Given the description of an element on the screen output the (x, y) to click on. 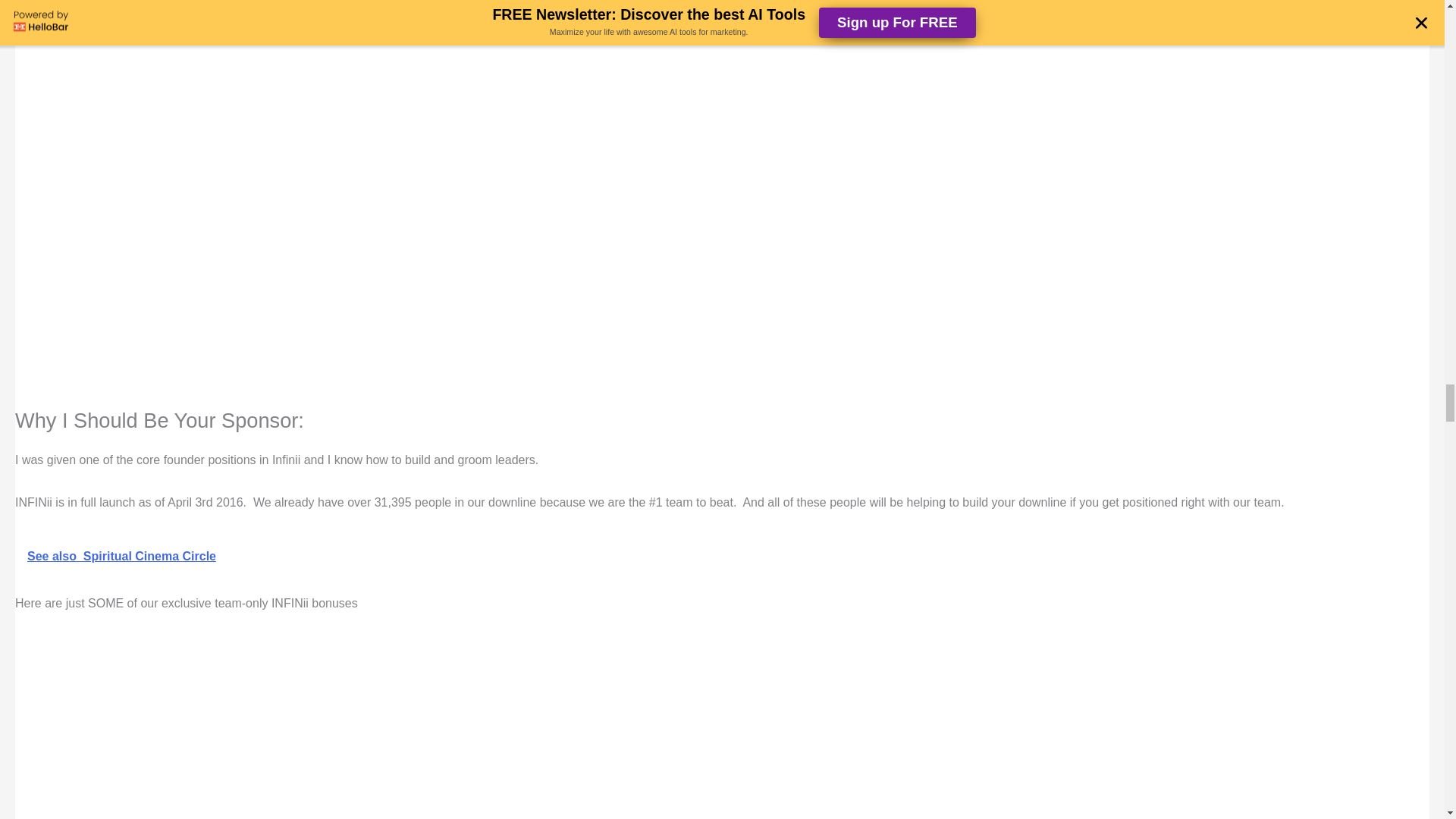
See also  Spiritual Cinema Circle (721, 556)
